Given the description of an element on the screen output the (x, y) to click on. 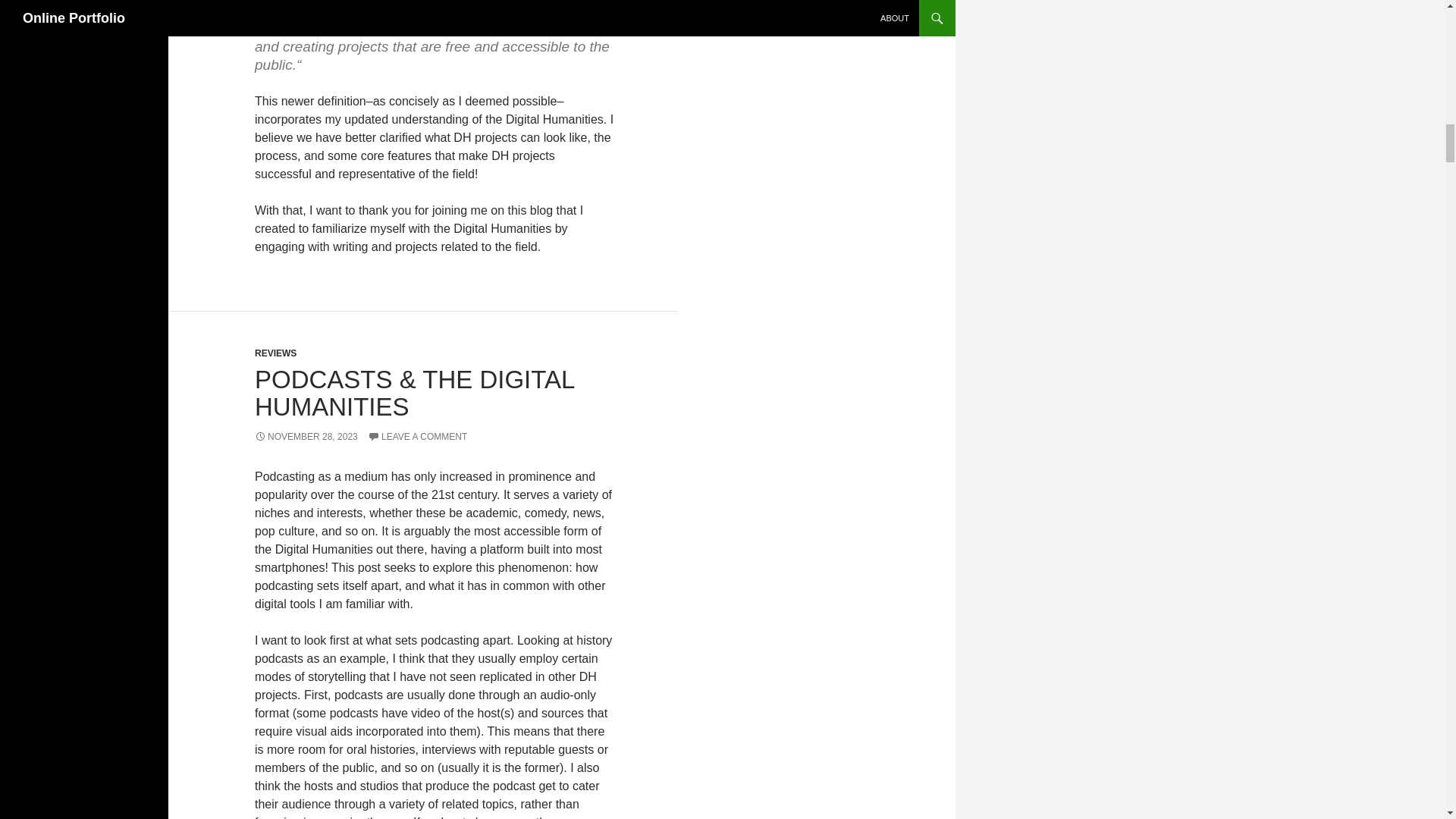
NOVEMBER 28, 2023 (306, 436)
REVIEWS (275, 353)
LEAVE A COMMENT (417, 436)
